Given the description of an element on the screen output the (x, y) to click on. 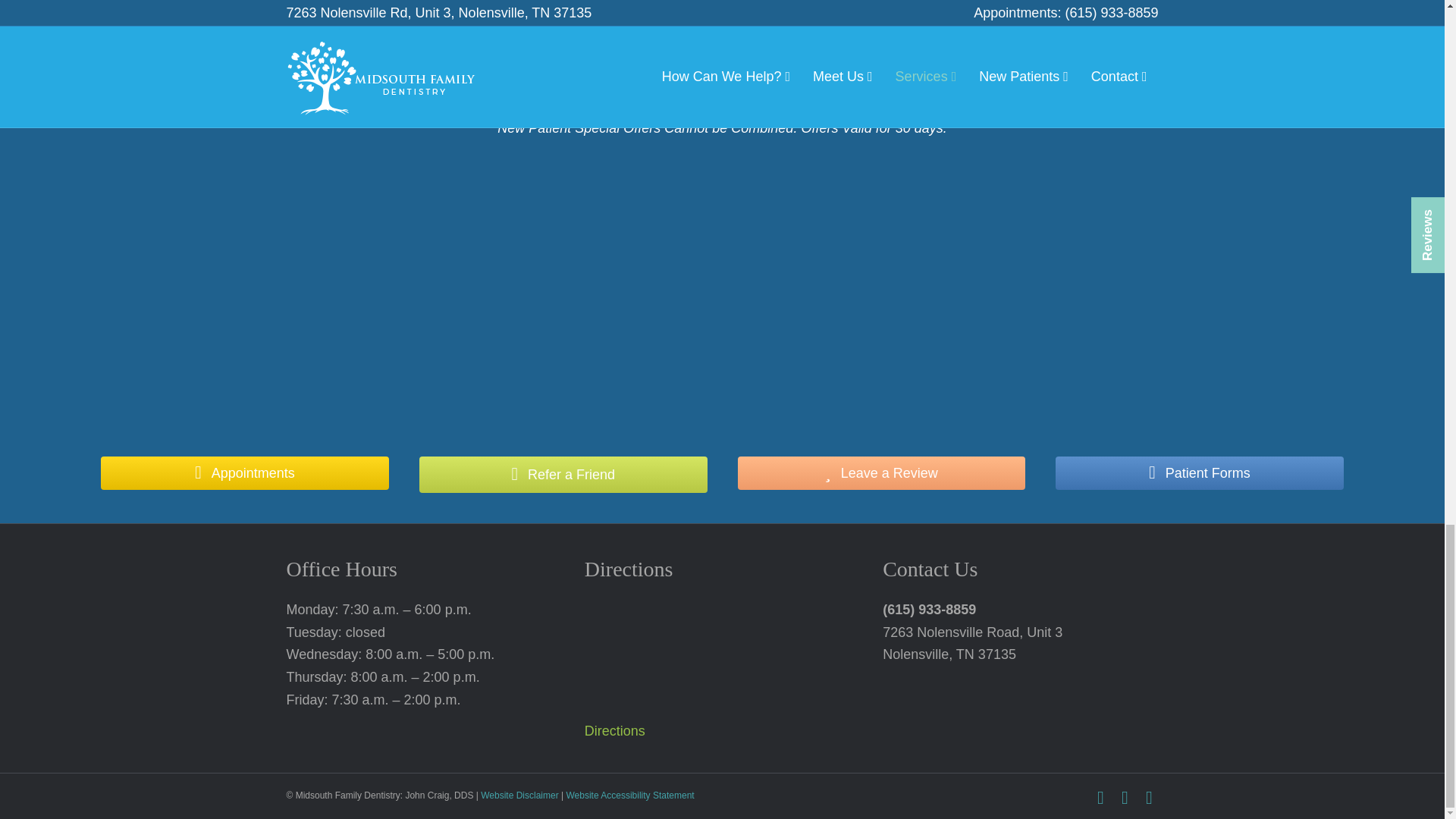
adult new patient special (297, 293)
children new patient special (721, 293)
